Given the description of an element on the screen output the (x, y) to click on. 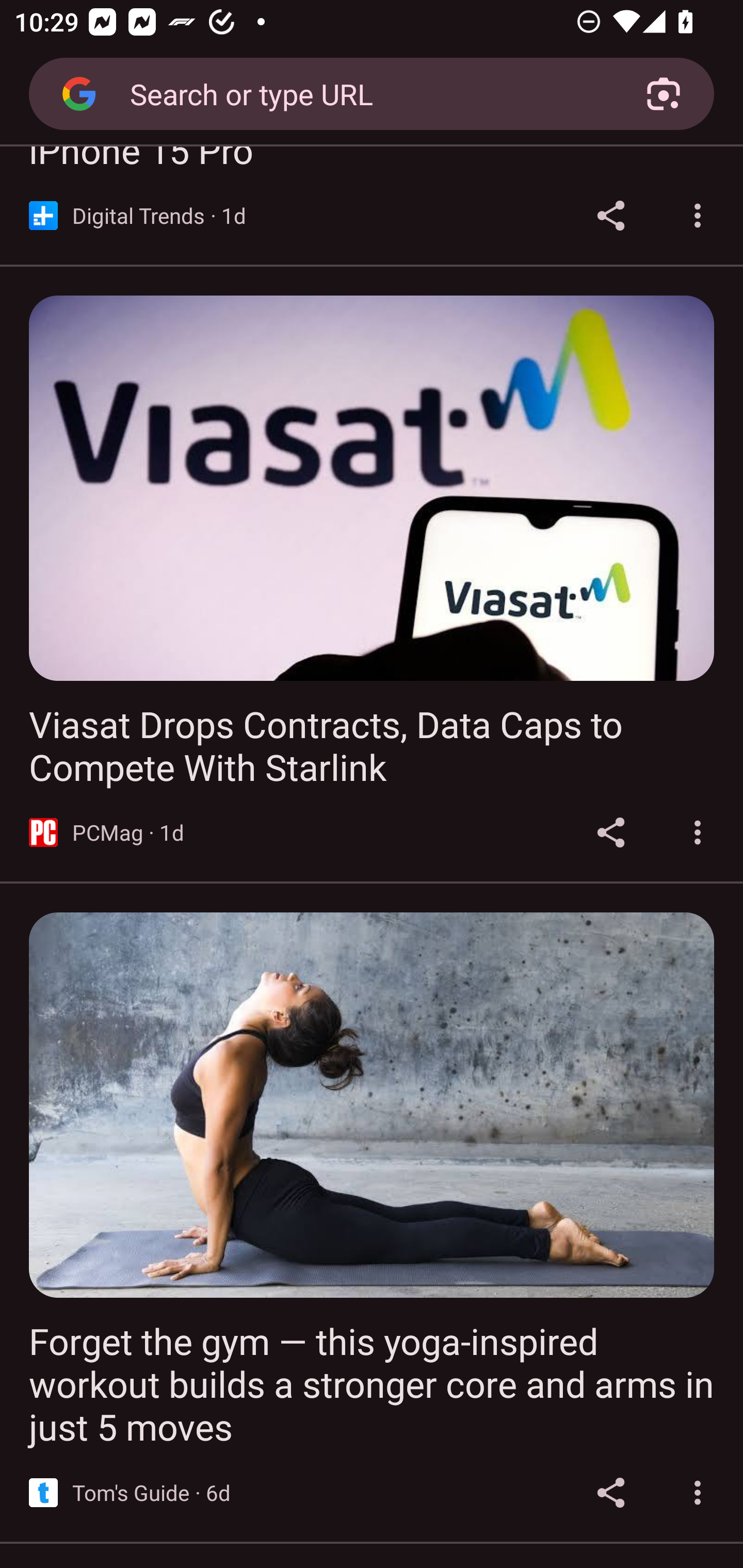
Search with your camera using Google Lens (663, 93)
Search or type URL (364, 92)
